Given the description of an element on the screen output the (x, y) to click on. 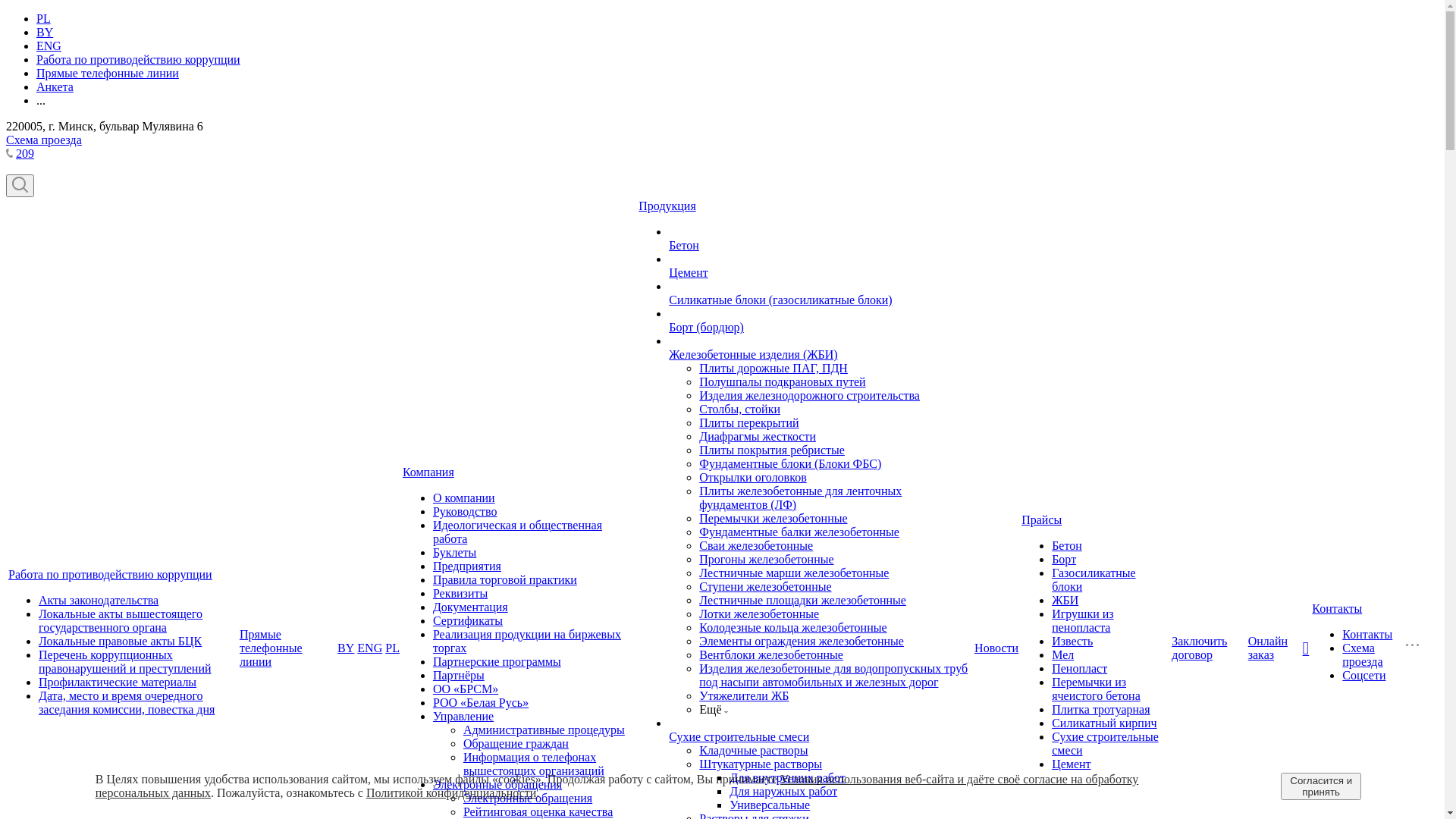
ENG Element type: text (48, 45)
ENG Element type: text (369, 648)
PL Element type: text (392, 648)
BY Element type: text (44, 31)
PL Element type: text (43, 18)
209 Element type: text (24, 153)
BY Element type: text (345, 648)
